Given the description of an element on the screen output the (x, y) to click on. 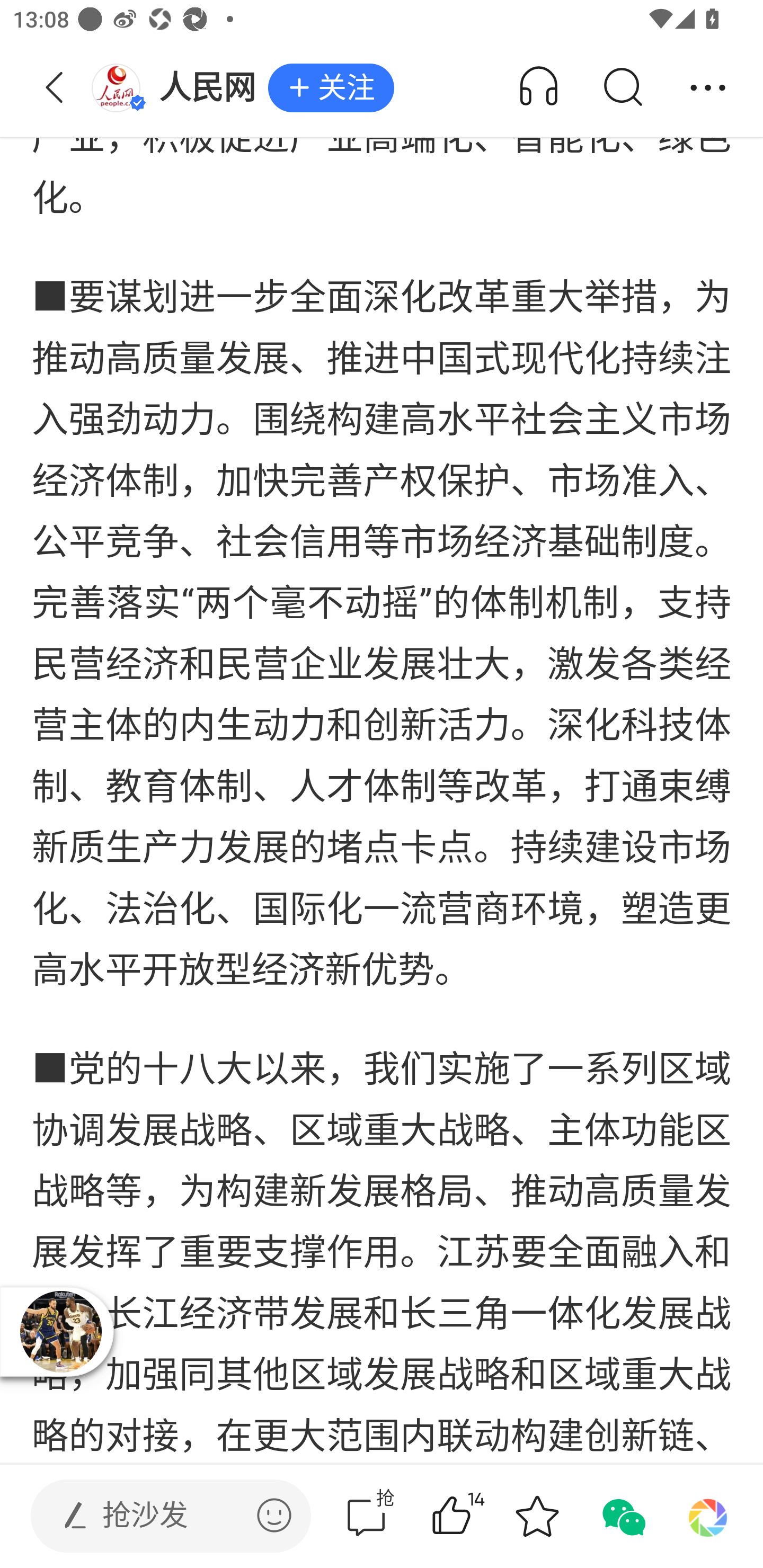
人民网 (179, 87)
搜索  (622, 87)
分享  (707, 87)
 返回 (54, 87)
 关注 (330, 88)
播放器 (60, 1331)
发表评论  抢沙发 发表评论  (155, 1516)
抢评论  抢 评论 (365, 1516)
14赞 (476, 1516)
收藏  (536, 1516)
分享到微信  (622, 1516)
分享到朋友圈 (707, 1516)
 (274, 1515)
